Given the description of an element on the screen output the (x, y) to click on. 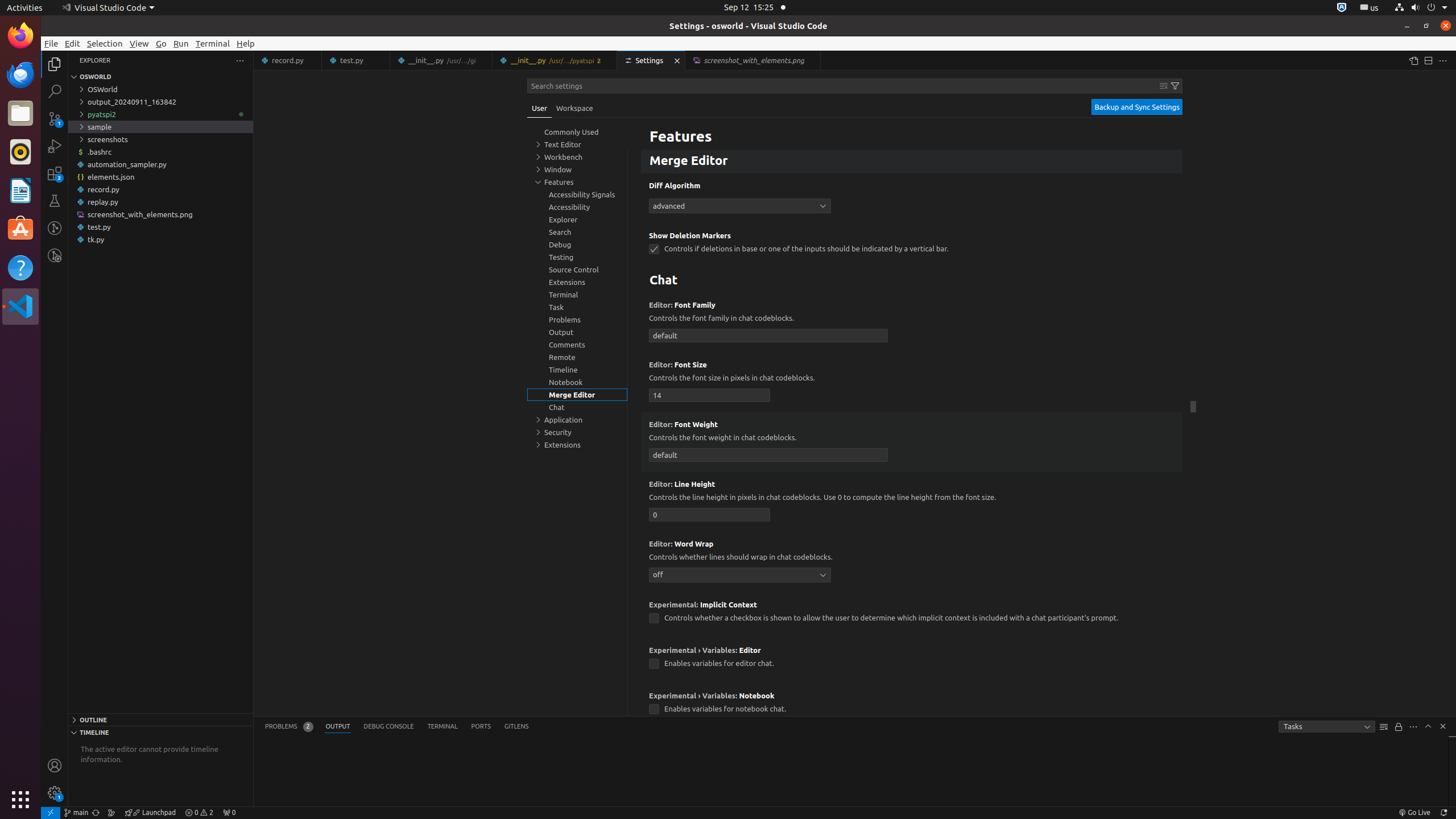
Active View Switcher Element type: page-tab-list (396, 726)
Merge Editor Element type: tree-item (911, 161)
Turn Auto Scrolling Off Element type: check-box (1398, 726)
Manage - New Code update available. Element type: push-button (54, 792)
Filter Settings Element type: push-button (1174, 85)
